Given the description of an element on the screen output the (x, y) to click on. 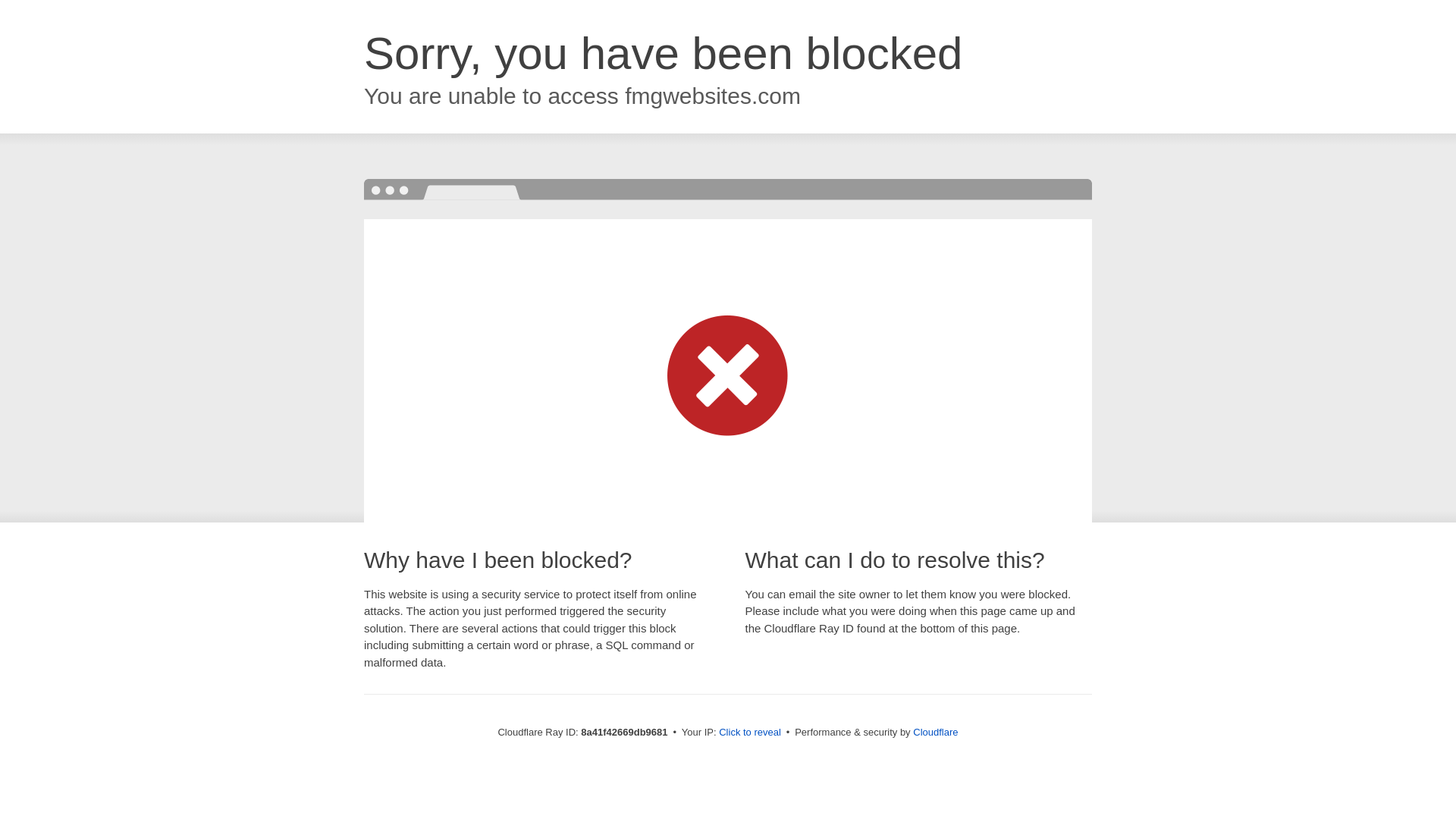
Click to reveal (749, 732)
Cloudflare (935, 731)
